Given the description of an element on the screen output the (x, y) to click on. 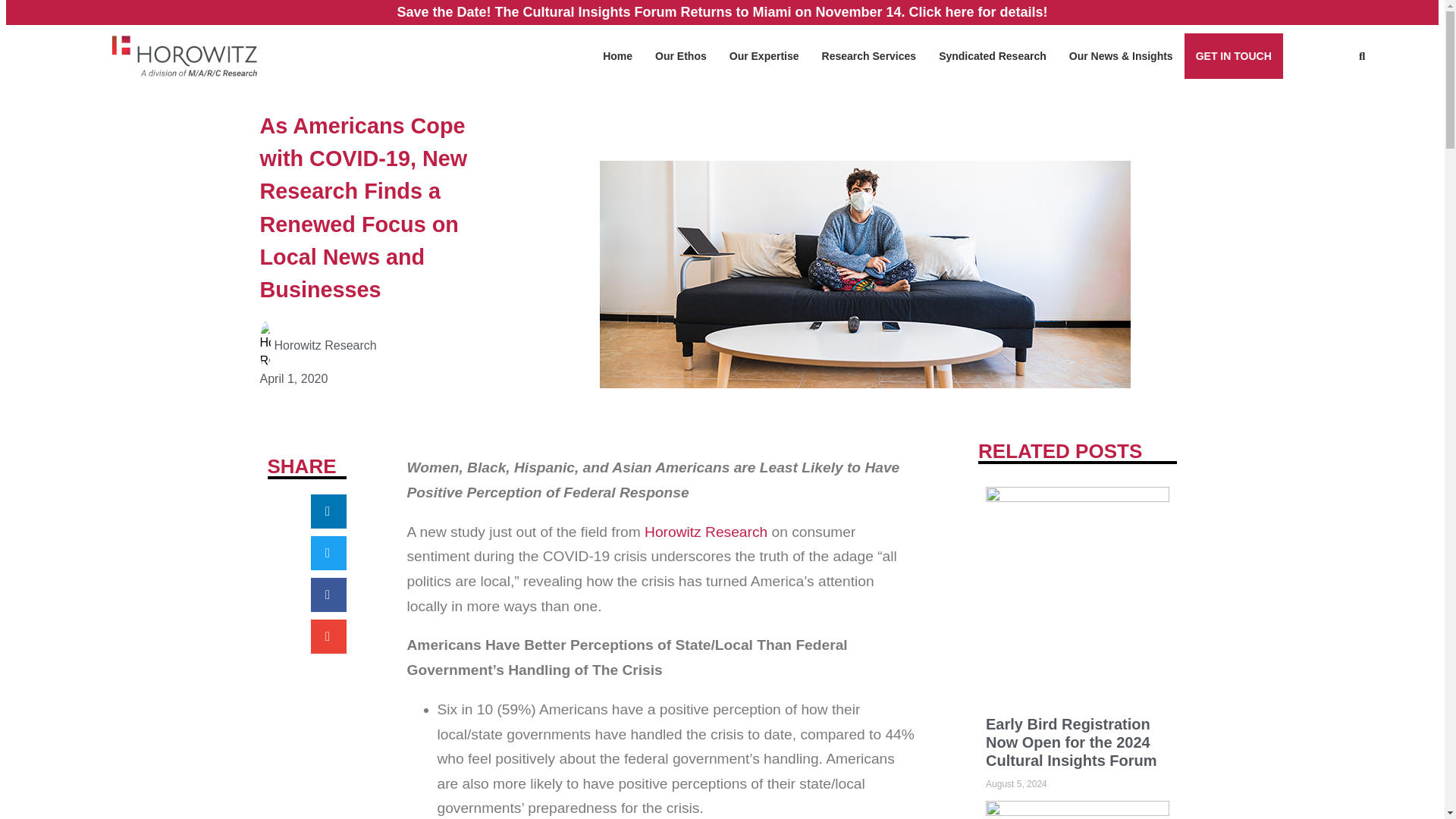
Syndicated Research (992, 55)
Research Services (869, 55)
Home (617, 55)
Click here for details! (978, 11)
Our Ethos (680, 55)
Our Expertise (763, 55)
